Given the description of an element on the screen output the (x, y) to click on. 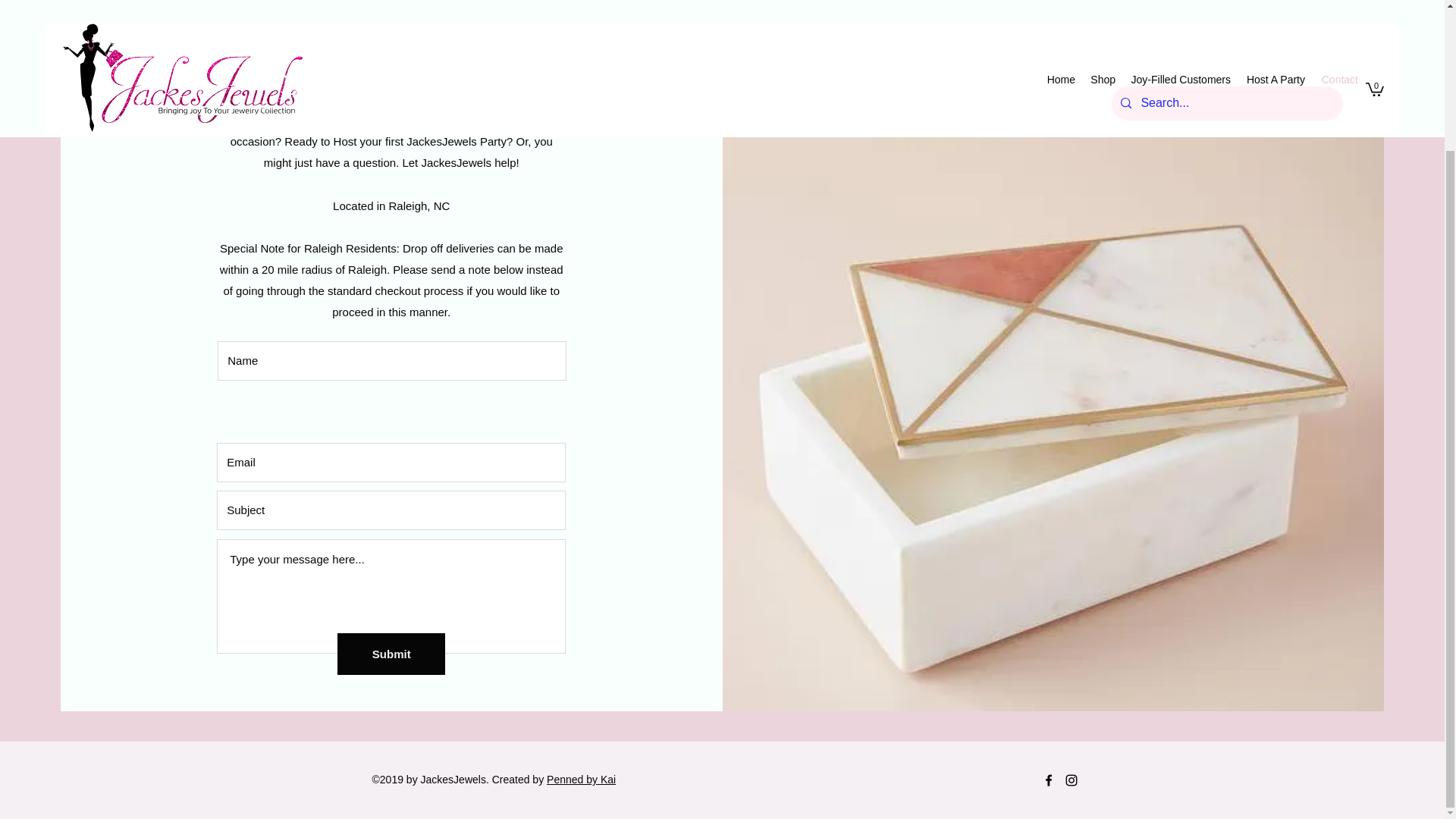
Penned by Kai (581, 779)
Submit (391, 653)
